Given the description of an element on the screen output the (x, y) to click on. 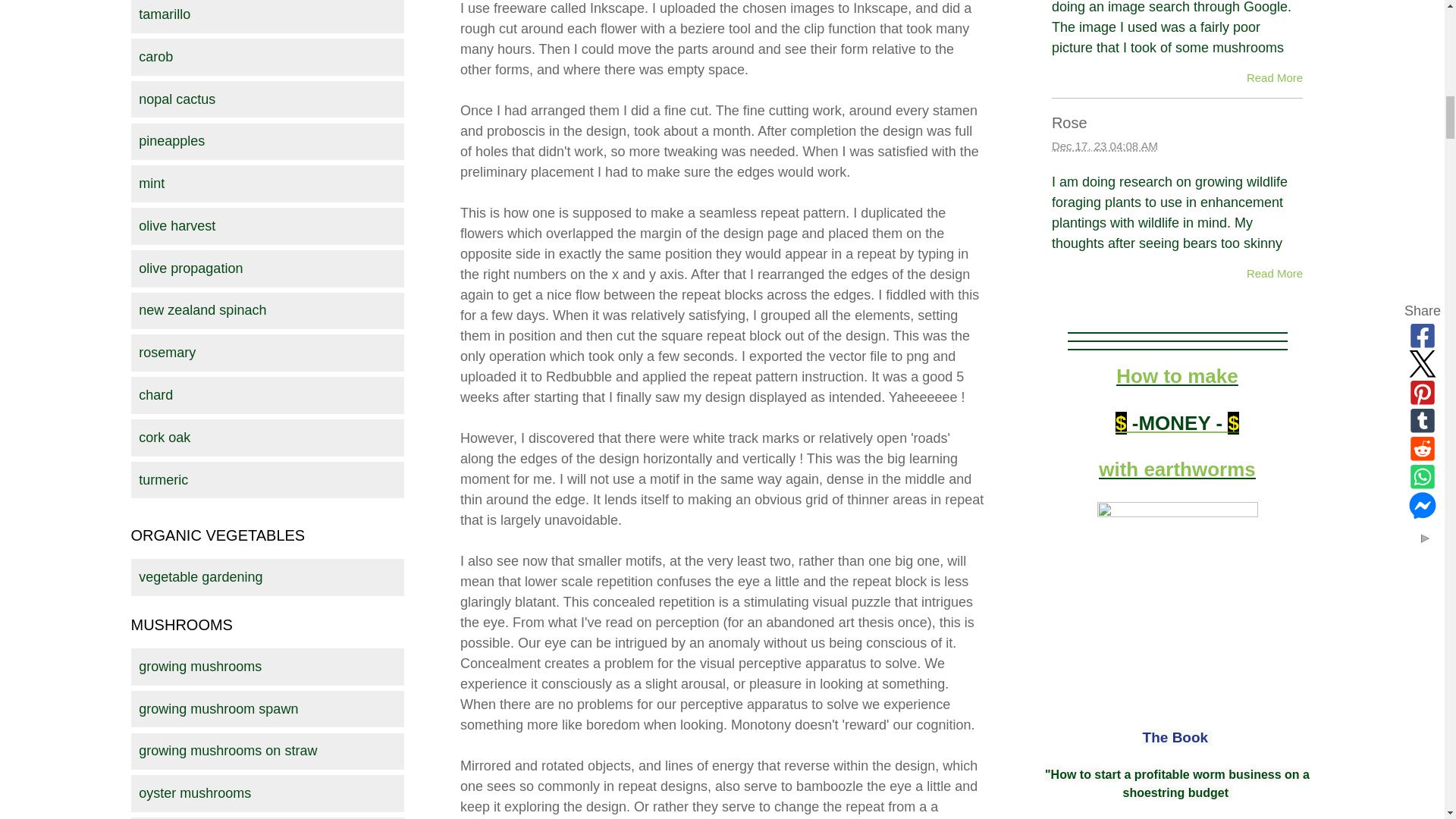
2023-12-17T04:08:38-0500 (1104, 145)
